Given the description of an element on the screen output the (x, y) to click on. 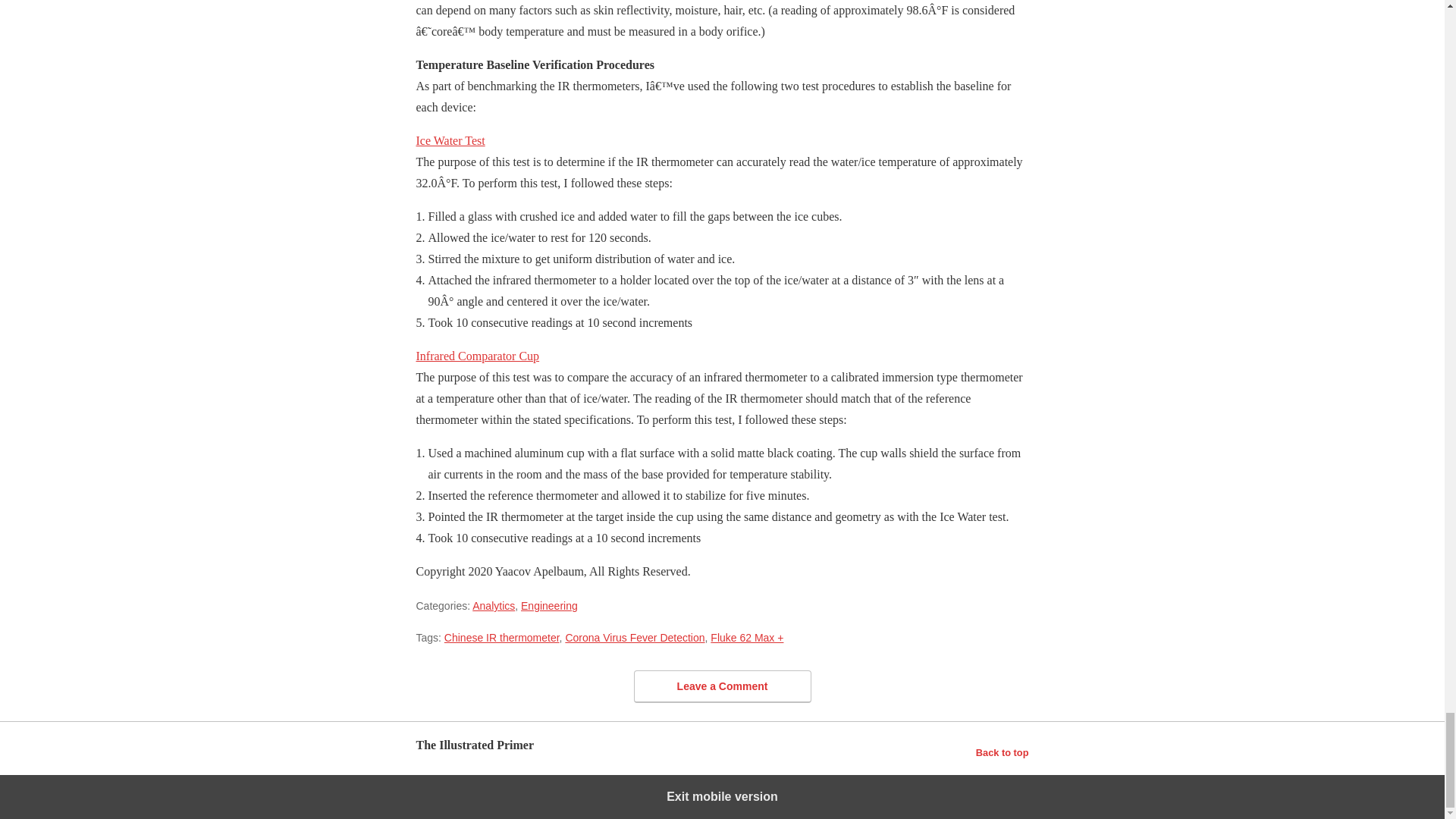
Corona Virus Fever Detection (634, 637)
Engineering (549, 605)
Analytics (493, 605)
Infrared Comparator Cup (476, 355)
Ice Water Test (449, 140)
Back to top (1002, 752)
Leave a Comment (721, 686)
Chinese IR thermometer (501, 637)
